Given the description of an element on the screen output the (x, y) to click on. 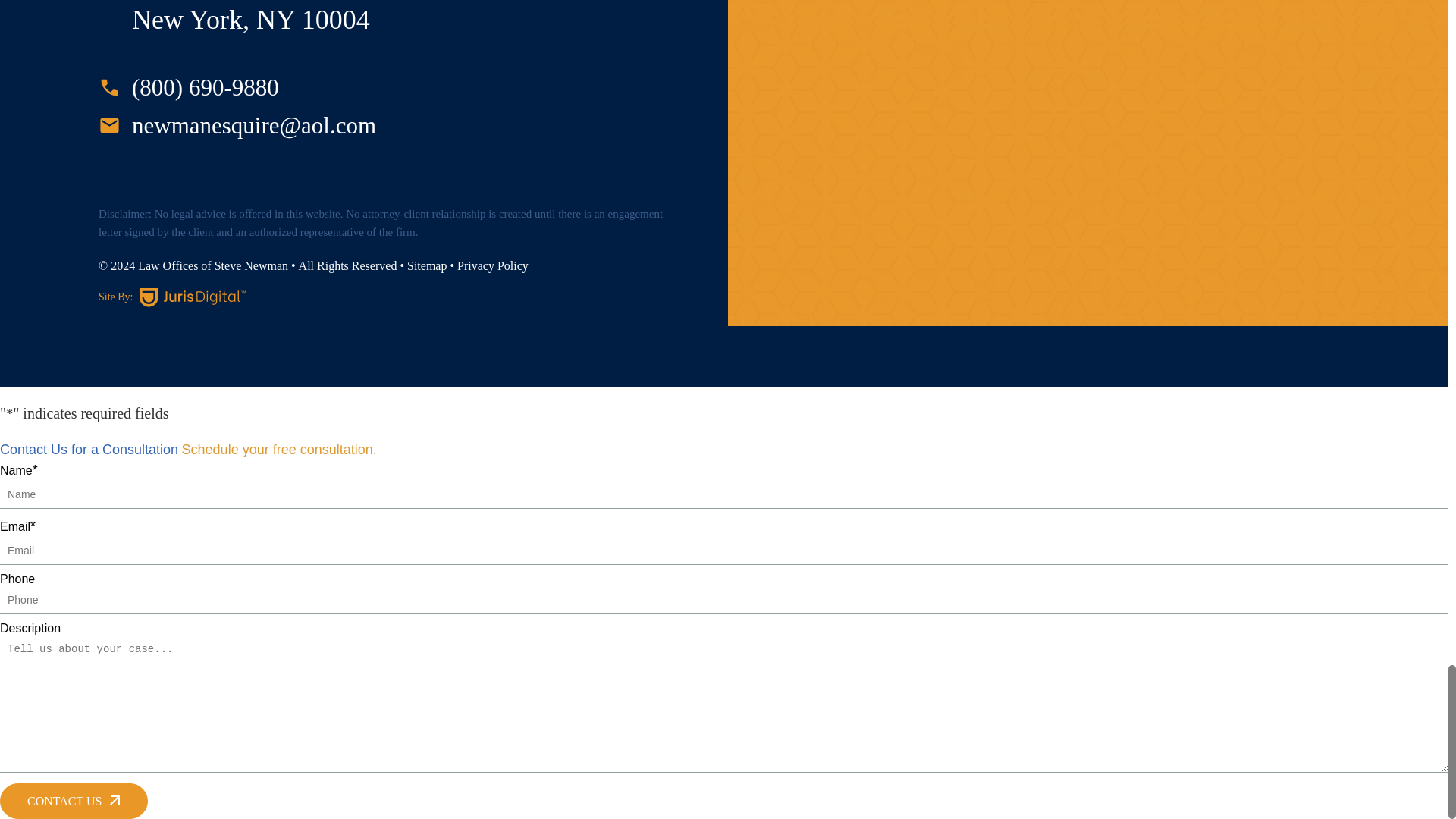
Privacy Policy (492, 266)
Sitemap (426, 266)
Call Law Offices of Steve Newman (189, 87)
Call (237, 125)
